Given the description of an element on the screen output the (x, y) to click on. 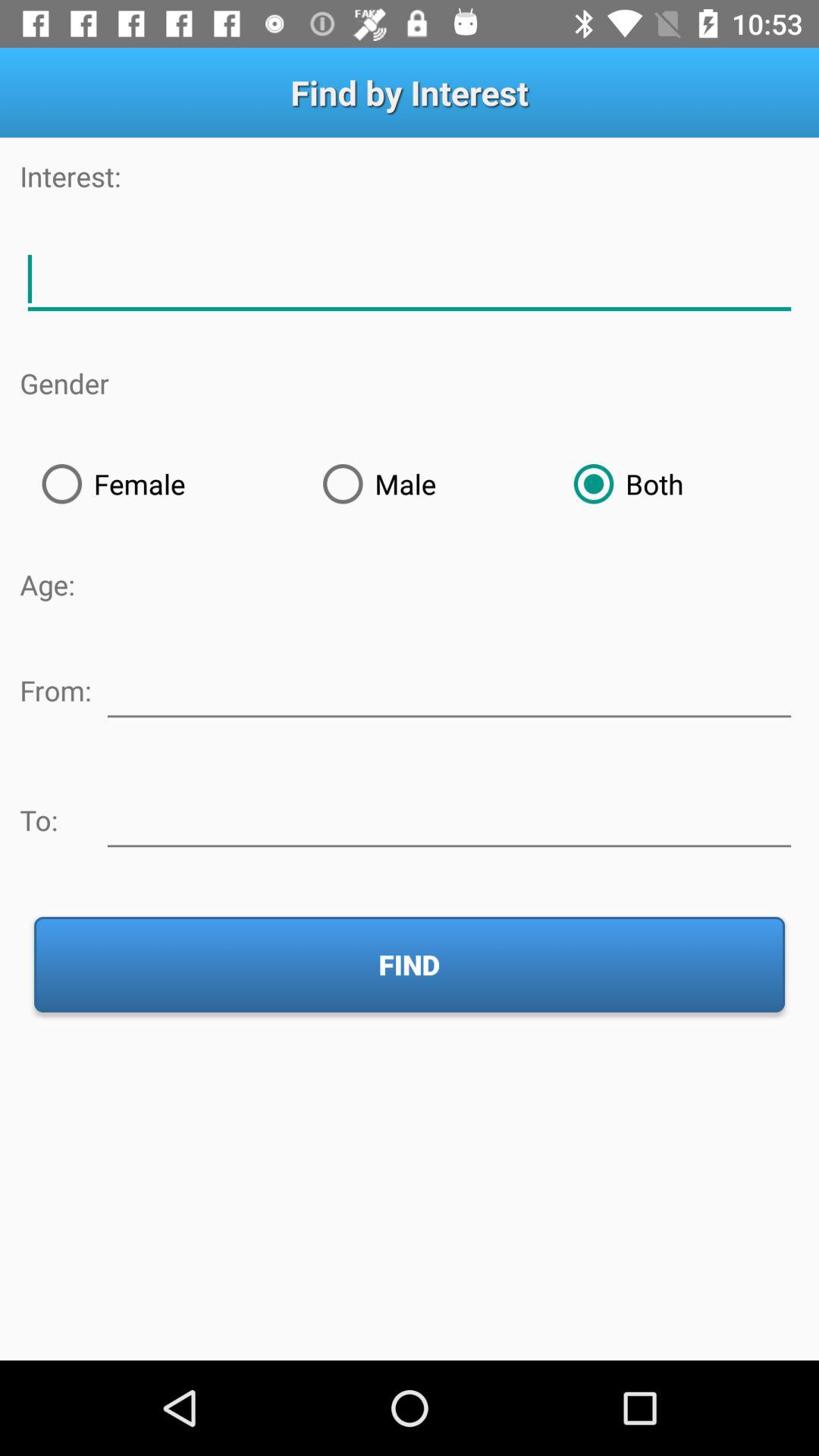
enter the minimum age for people you are searching here (449, 688)
